Given the description of an element on the screen output the (x, y) to click on. 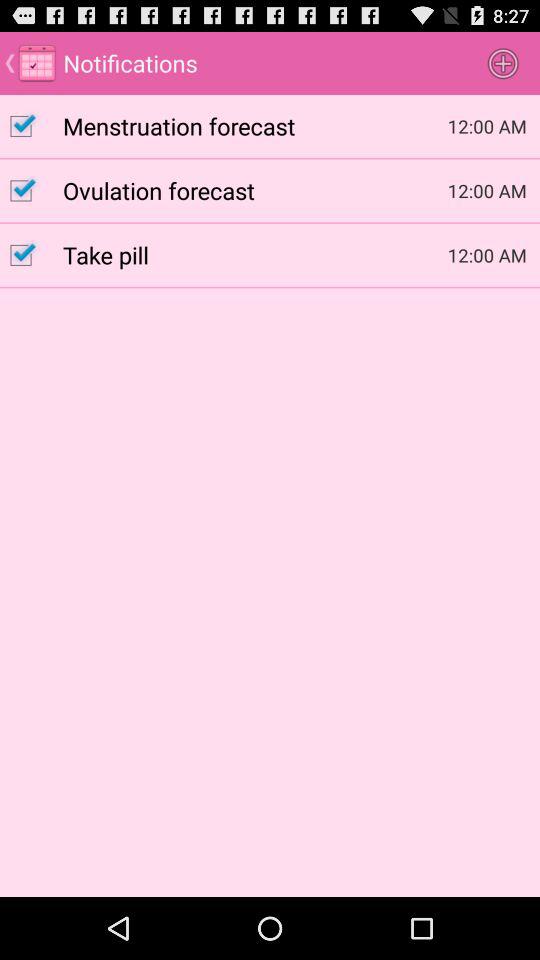
uncheck menstruation forecast (31, 125)
